Given the description of an element on the screen output the (x, y) to click on. 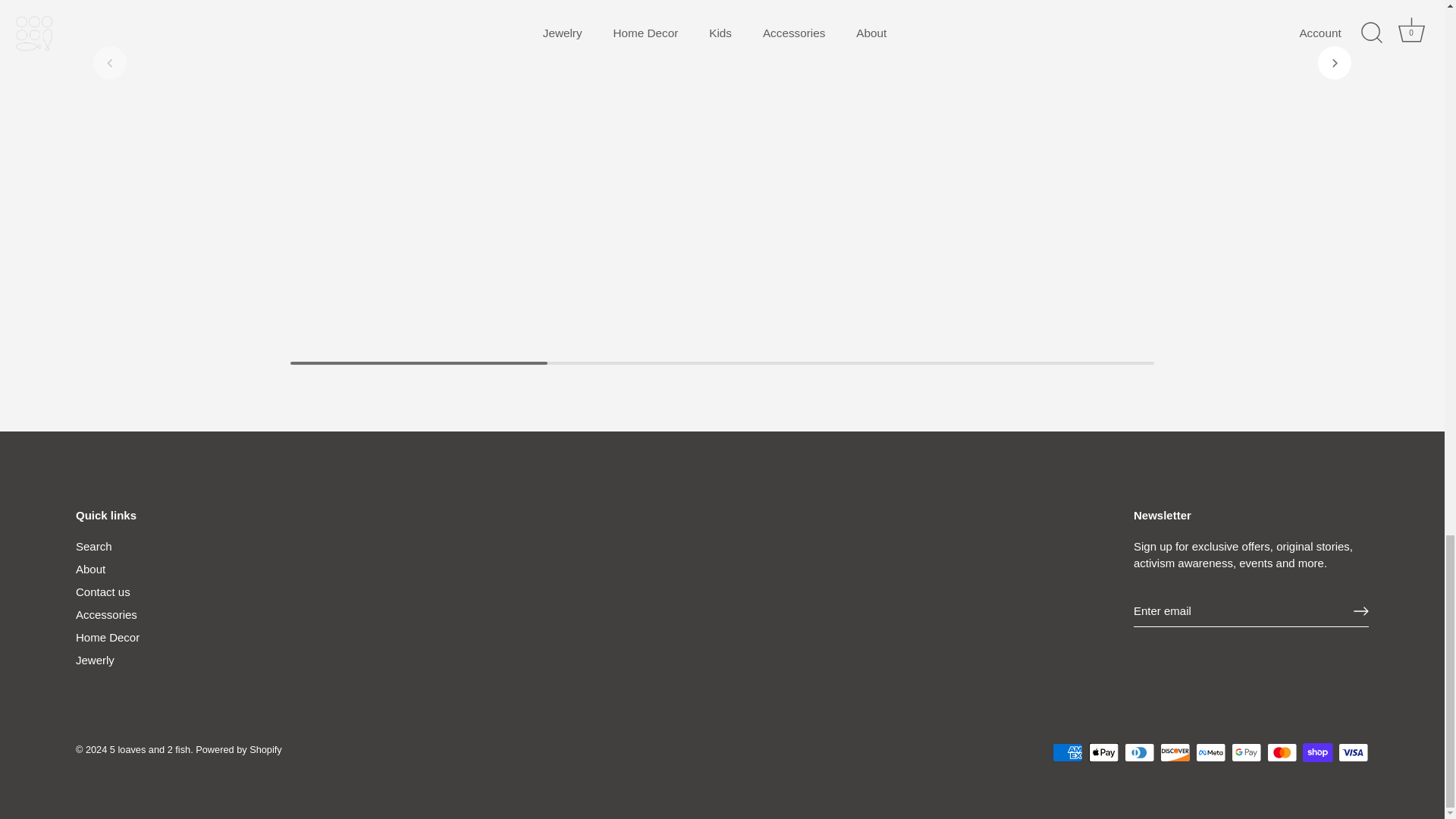
Meta Pay (1210, 752)
American Express (1067, 752)
Mastercard (1281, 752)
Diners Club (1139, 752)
Apple Pay (1104, 752)
Visa (1353, 752)
Discover (1174, 752)
Google Pay (1245, 752)
RIGHT ARROW LONG (1361, 611)
Shop Pay (1317, 752)
